Given the description of an element on the screen output the (x, y) to click on. 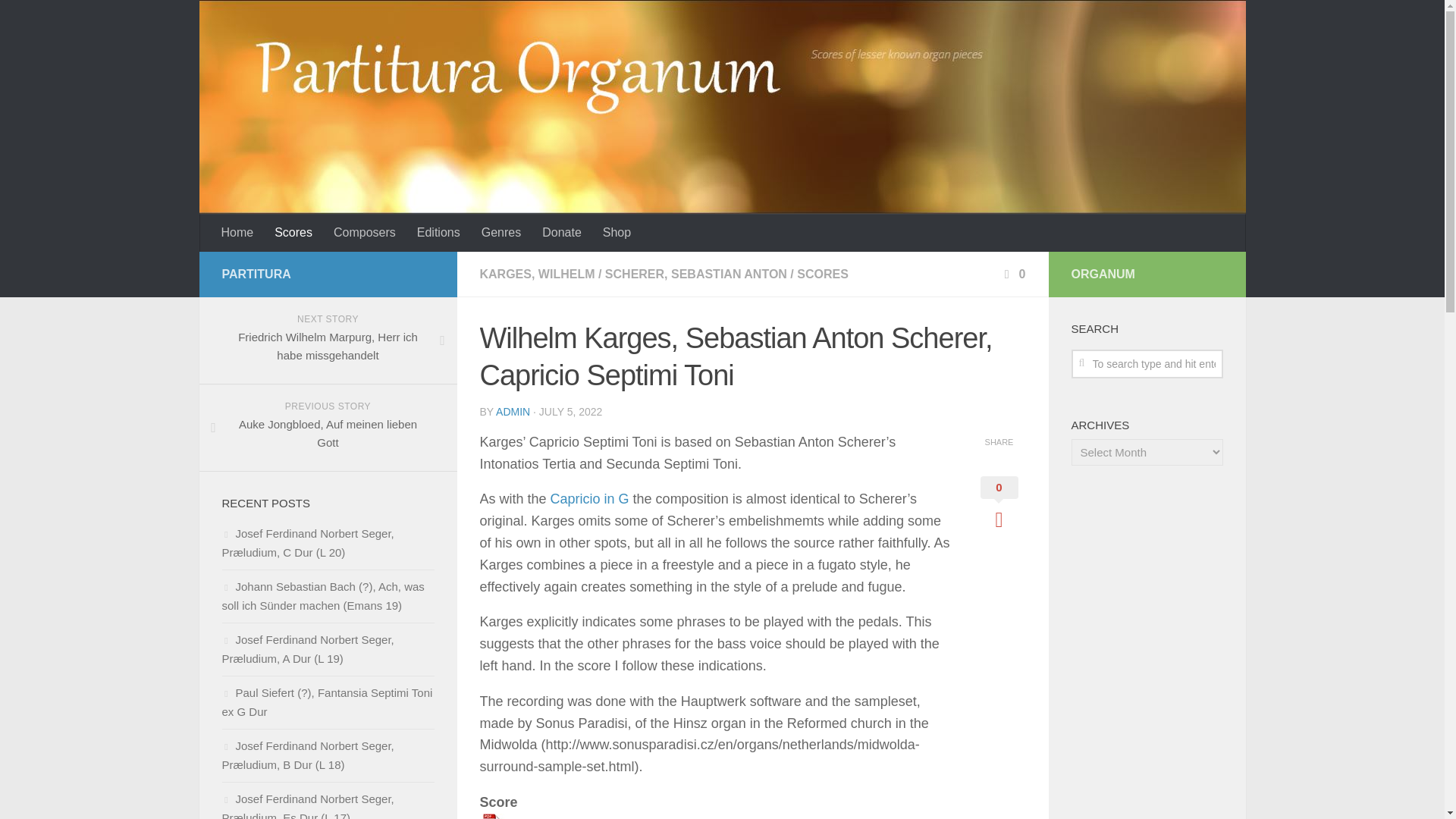
Scores (293, 232)
Genres (500, 232)
Shop (617, 232)
Posts by admin (512, 411)
KARGES, WILHELM (536, 273)
ADMIN (512, 411)
Home (327, 427)
Genres (237, 232)
Capricio in G (500, 232)
To search type and hit enter (590, 498)
Donate (1146, 363)
Composers (561, 232)
Editions (364, 232)
